Given the description of an element on the screen output the (x, y) to click on. 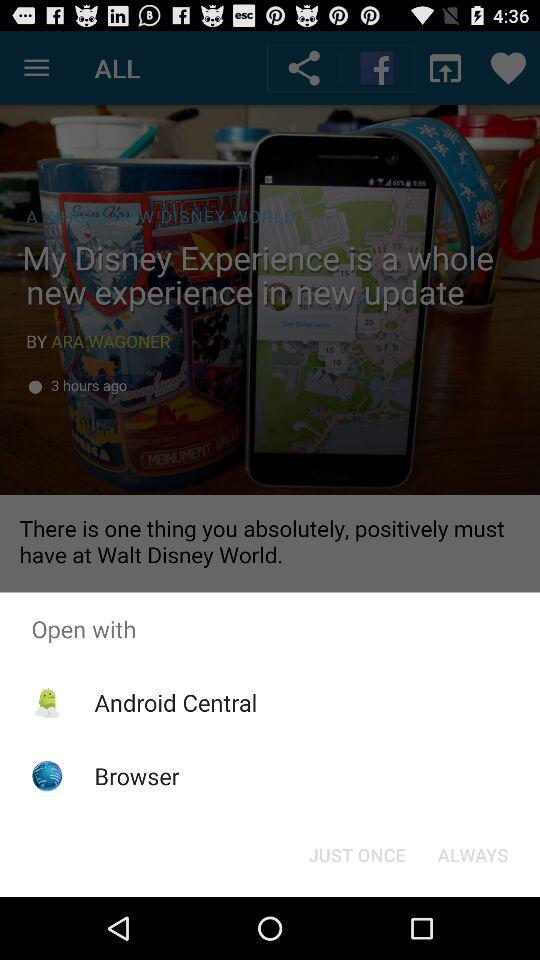
press the item above browser app (175, 702)
